Given the description of an element on the screen output the (x, y) to click on. 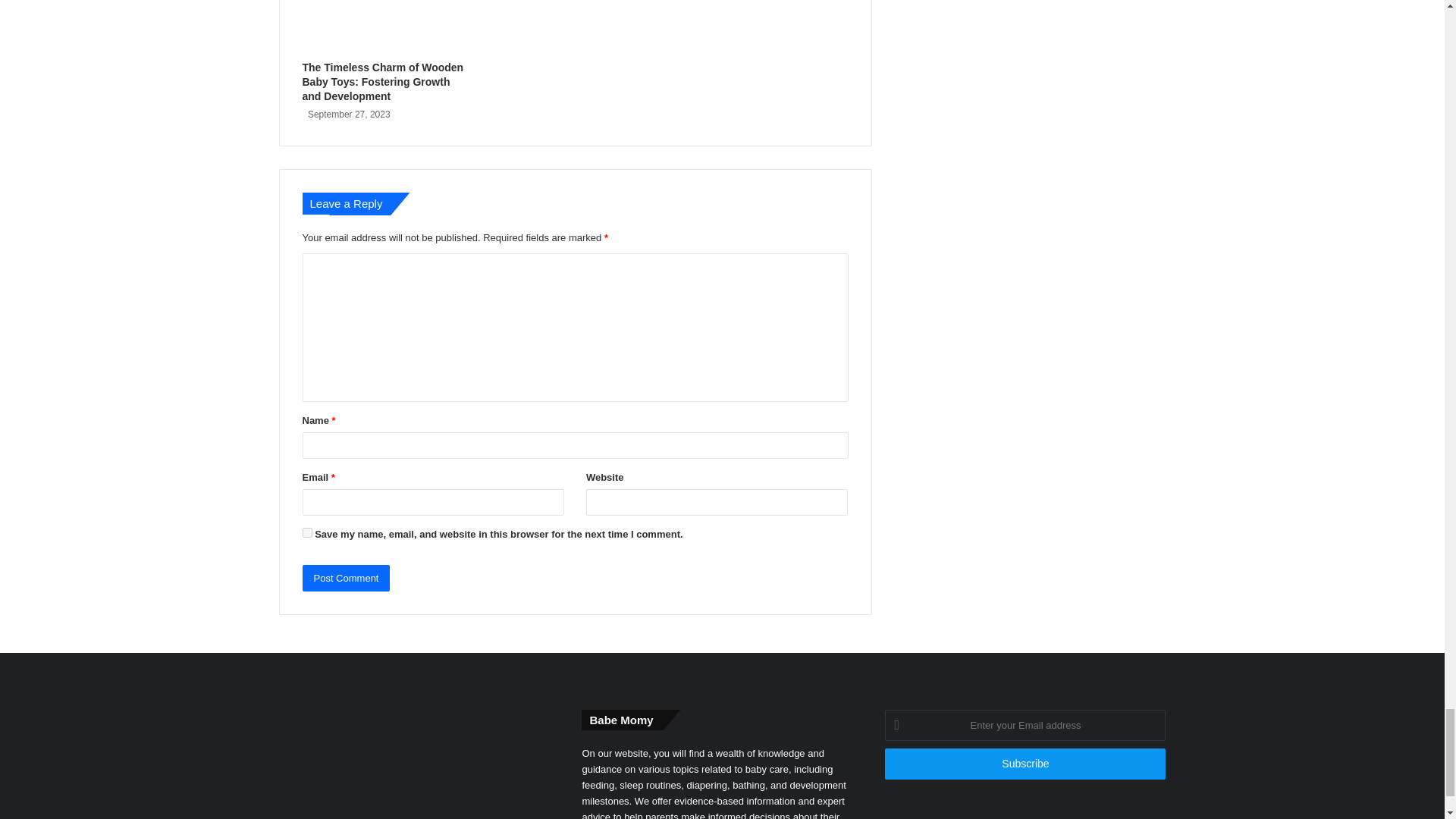
Post Comment (345, 578)
yes (306, 532)
Subscribe (1025, 763)
